Given the description of an element on the screen output the (x, y) to click on. 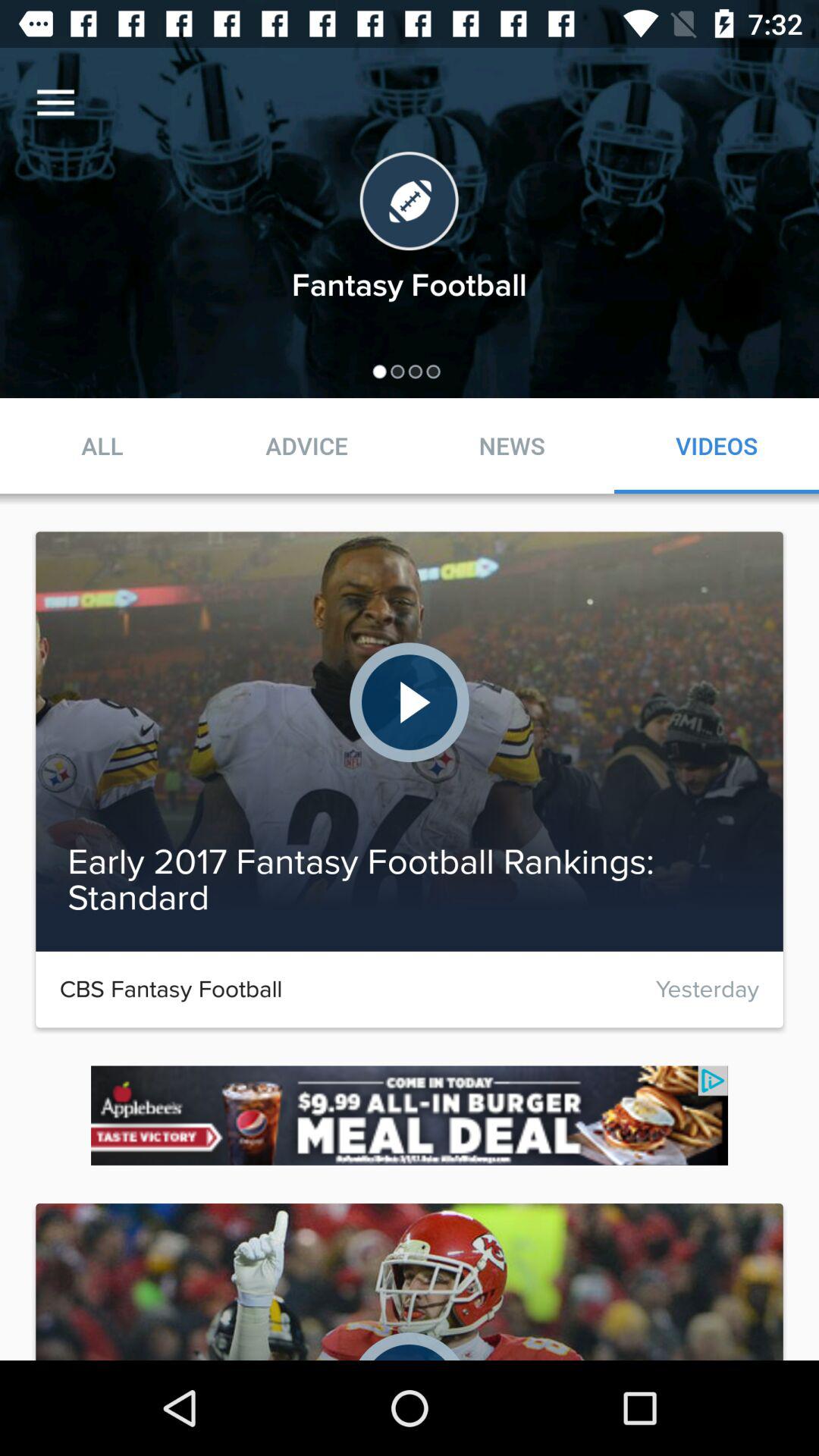
choose the bottom middle image (409, 1281)
select the image which is below meal deal image (409, 1277)
select the 2nd video (409, 741)
click on play icon on top of  early 2017 fantasy football rankings standard (409, 702)
